Given the description of an element on the screen output the (x, y) to click on. 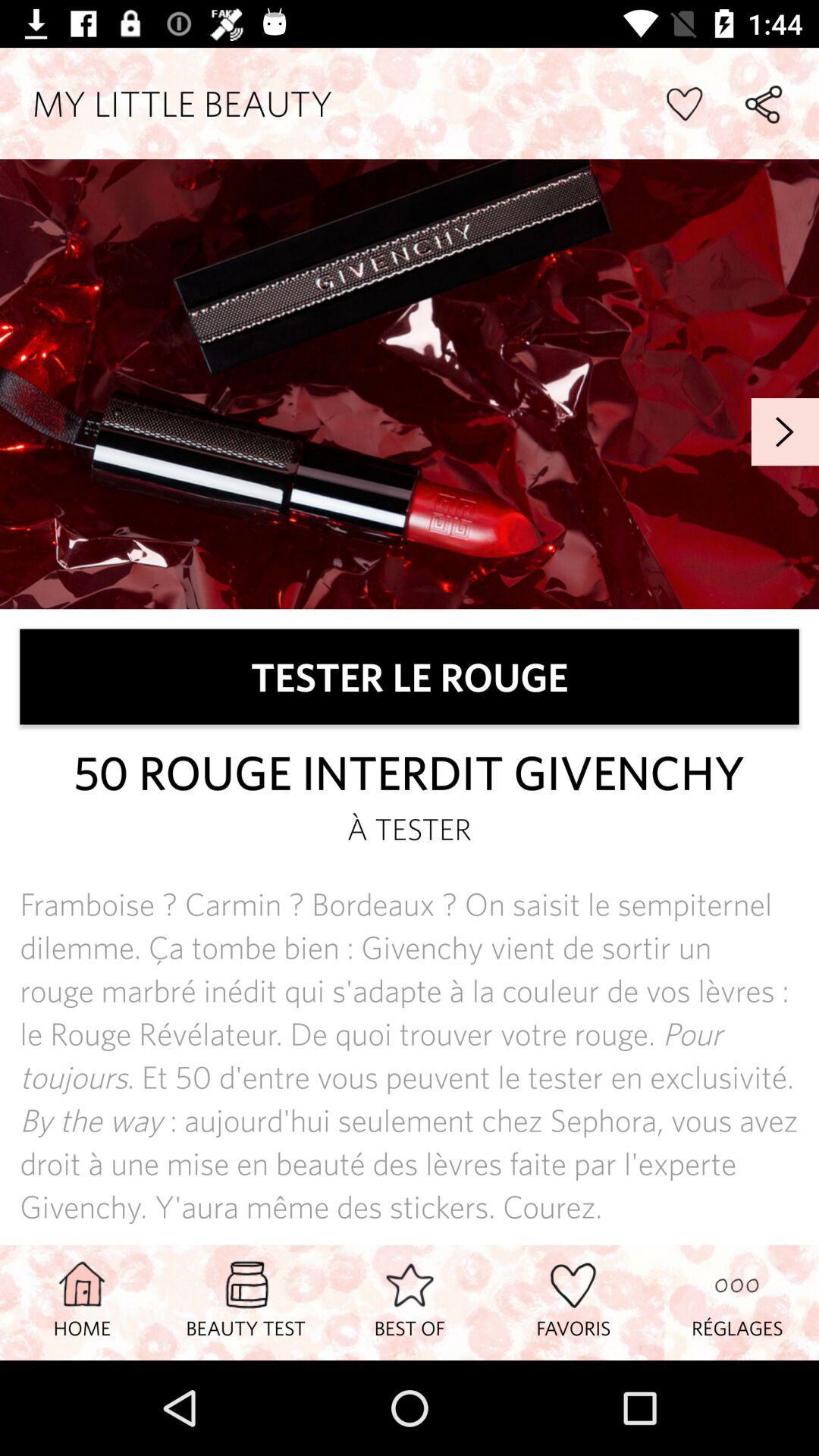
press home icon (81, 1302)
